Given the description of an element on the screen output the (x, y) to click on. 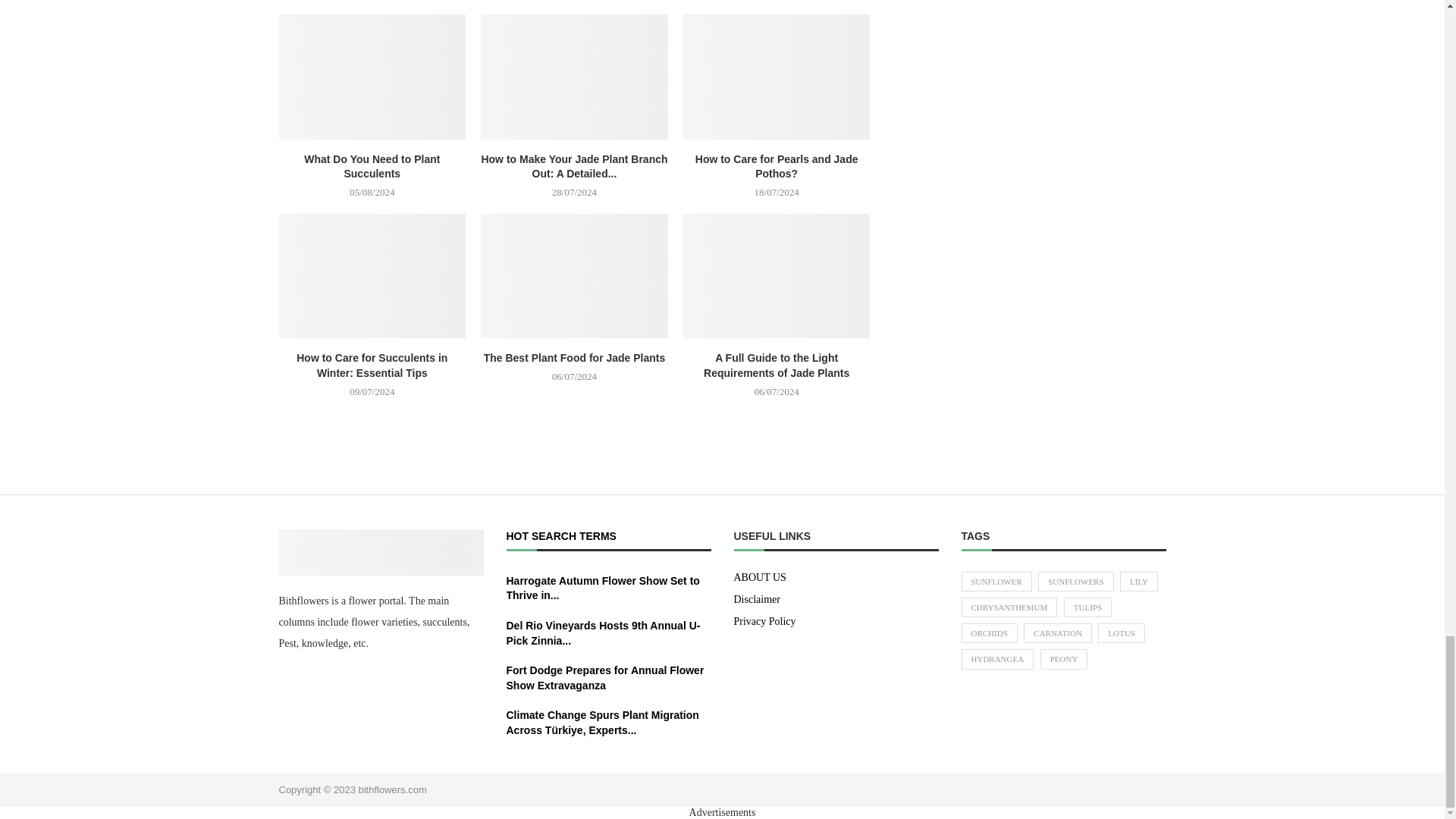
How to Care for Pearls and Jade Pothos? (776, 76)
How to Care for Succulents in Winter: Essential Tips (372, 275)
What Do You Need to Plant Succulents (372, 76)
A Full Guide to the Light Requirements of Jade Plants (776, 275)
How to Make Your Jade Plant Branch Out: A Detailed Guide (574, 76)
The Best Plant Food for Jade Plants (574, 275)
